Given the description of an element on the screen output the (x, y) to click on. 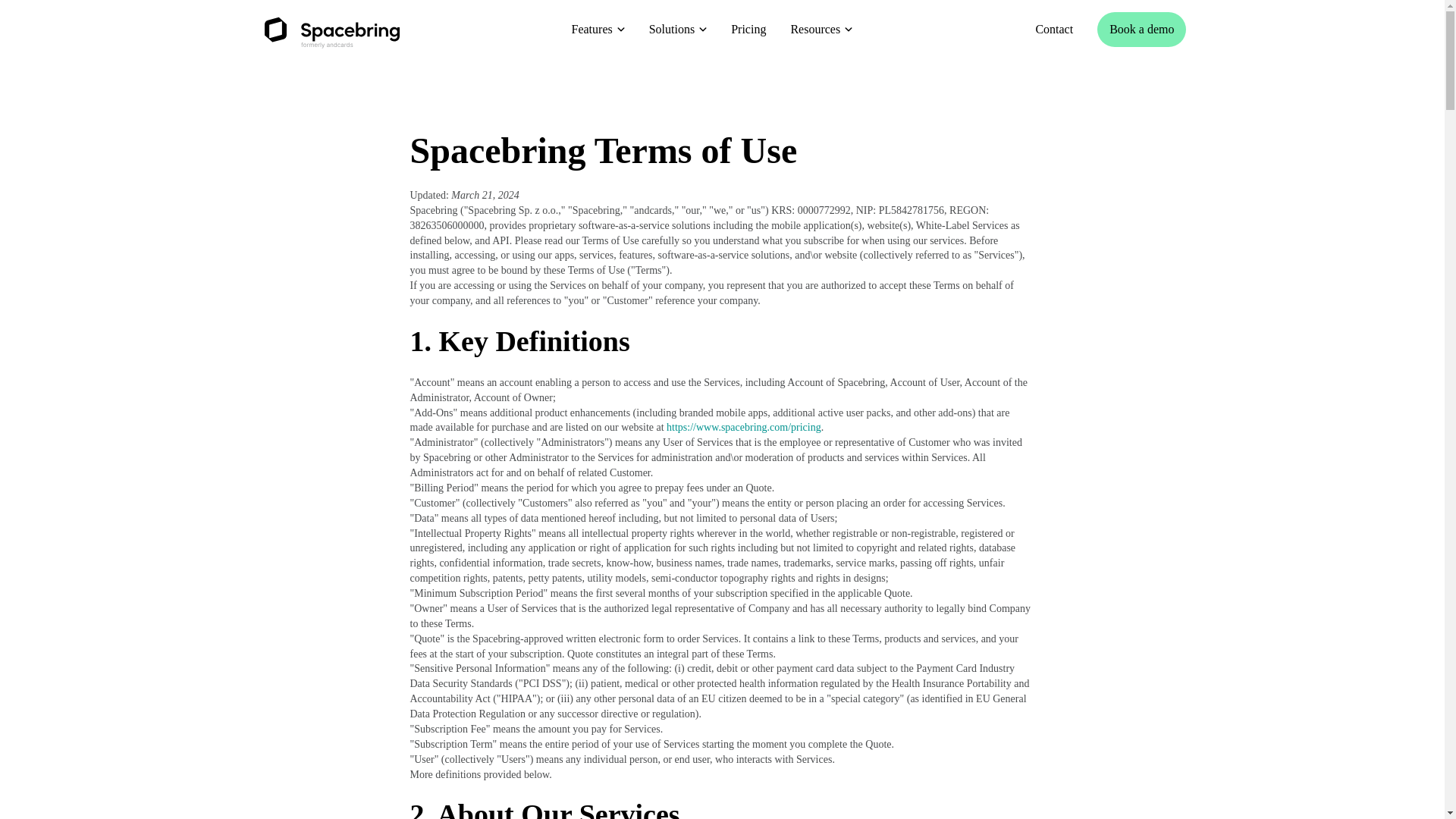
Pricing (747, 29)
